Given the description of an element on the screen output the (x, y) to click on. 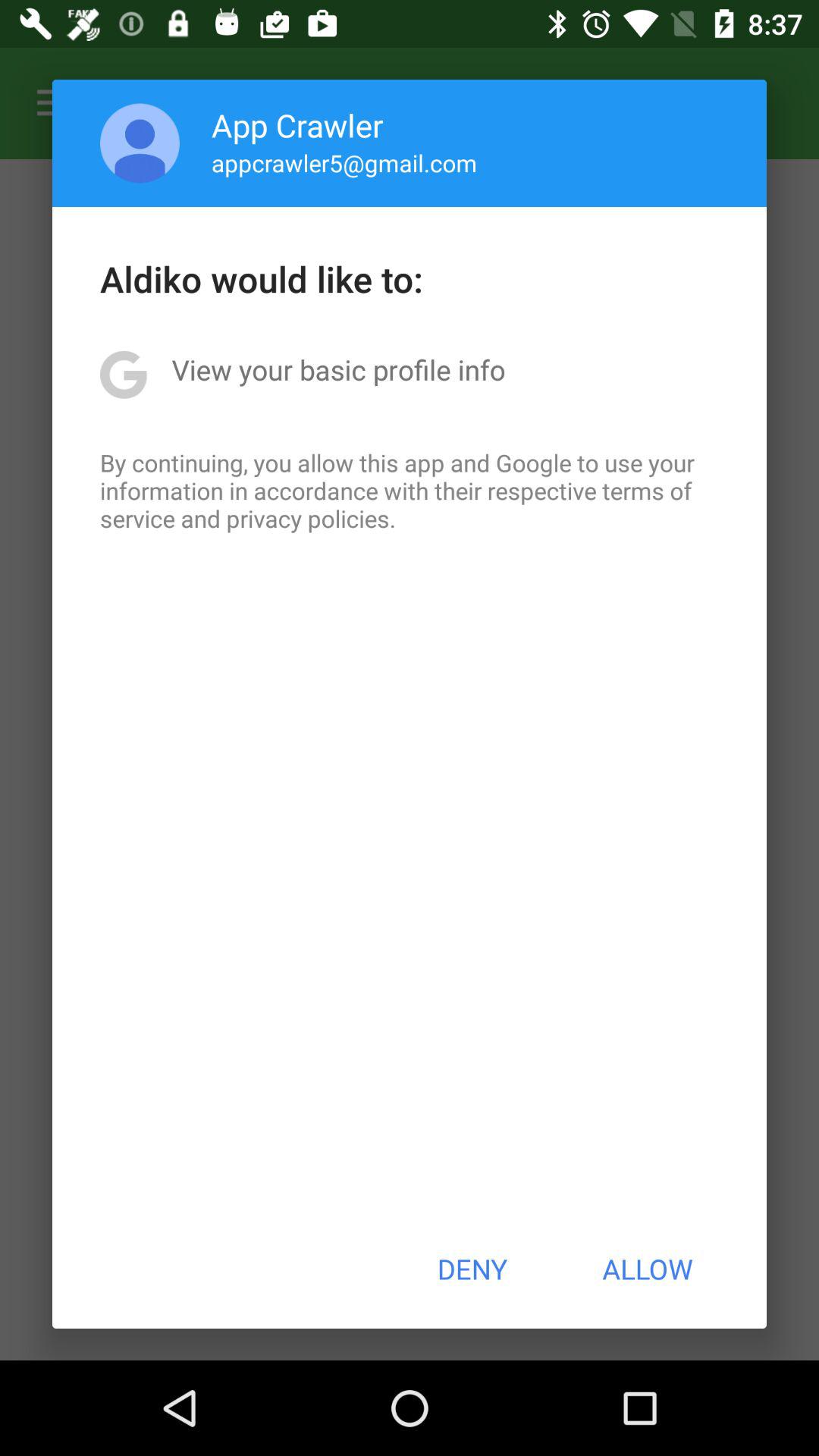
launch the view your basic app (338, 369)
